Given the description of an element on the screen output the (x, y) to click on. 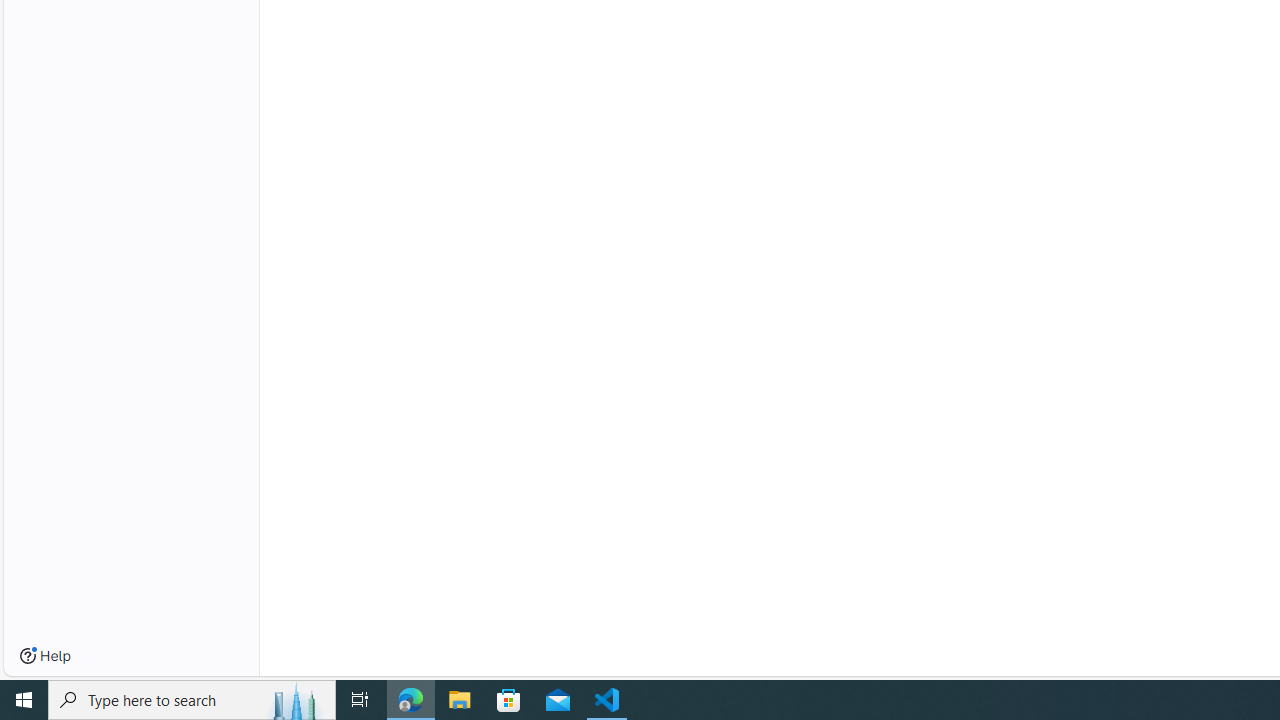
Help (45, 655)
